Given the description of an element on the screen output the (x, y) to click on. 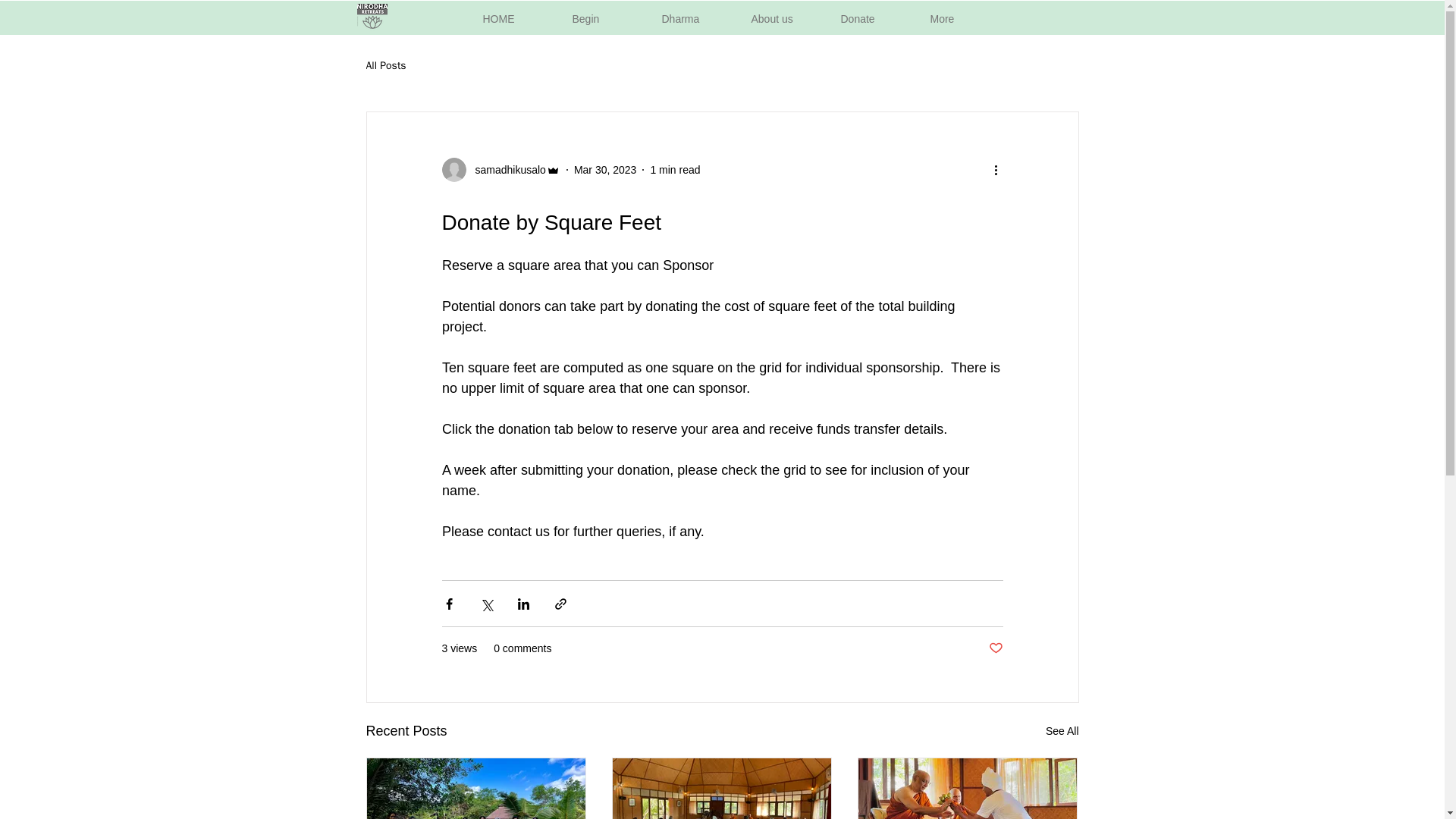
Donate (876, 17)
samadhikusalo (500, 169)
All Posts (385, 65)
samadhikusalo (504, 170)
1 min read (674, 169)
About us (787, 17)
Mar 30, 2023 (605, 169)
See All (1061, 731)
Dharma (697, 17)
HOME (519, 17)
